Given the description of an element on the screen output the (x, y) to click on. 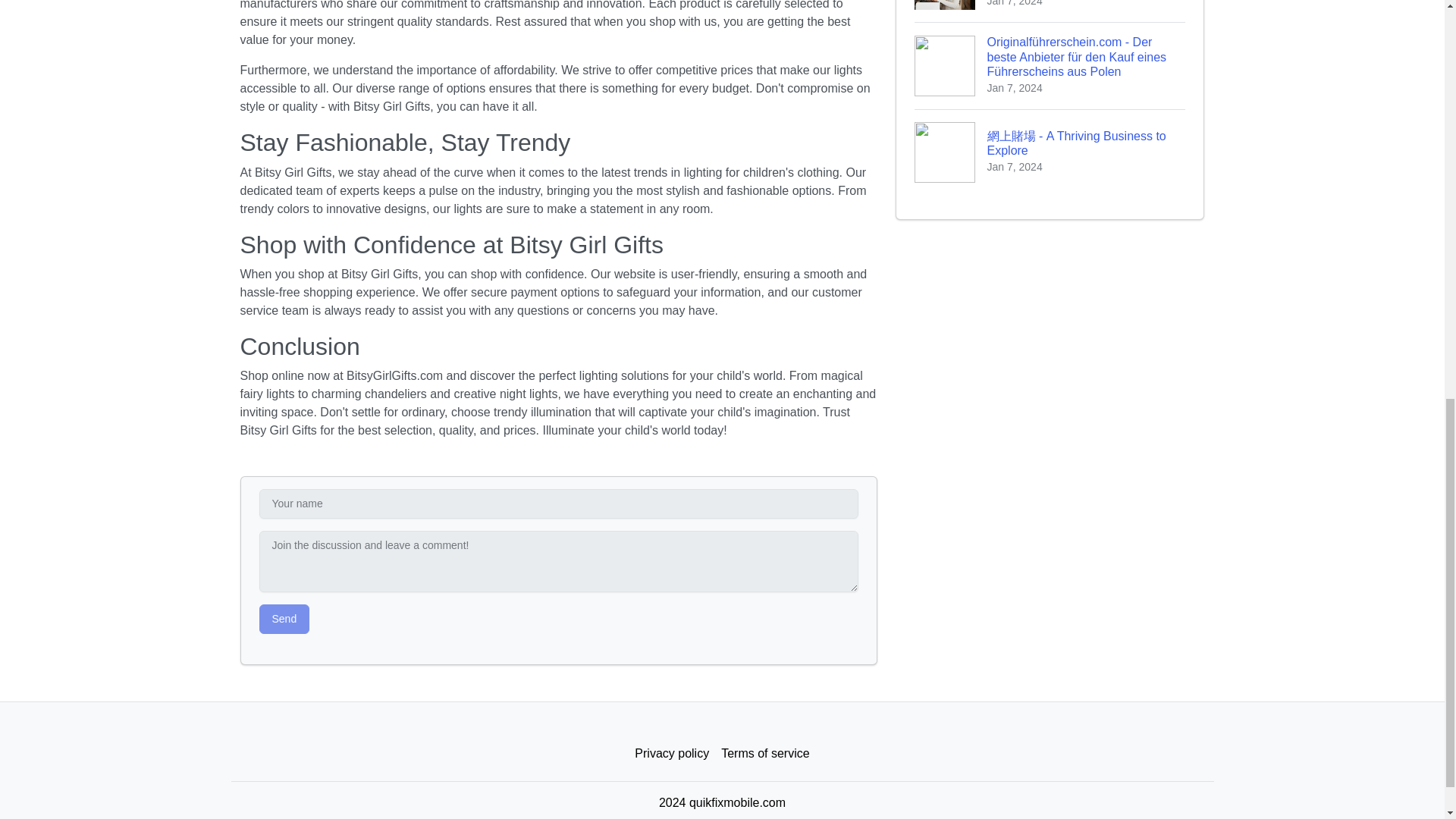
Send (284, 618)
Send (284, 618)
Terms of service (764, 753)
Privacy policy (671, 753)
